Given the description of an element on the screen output the (x, y) to click on. 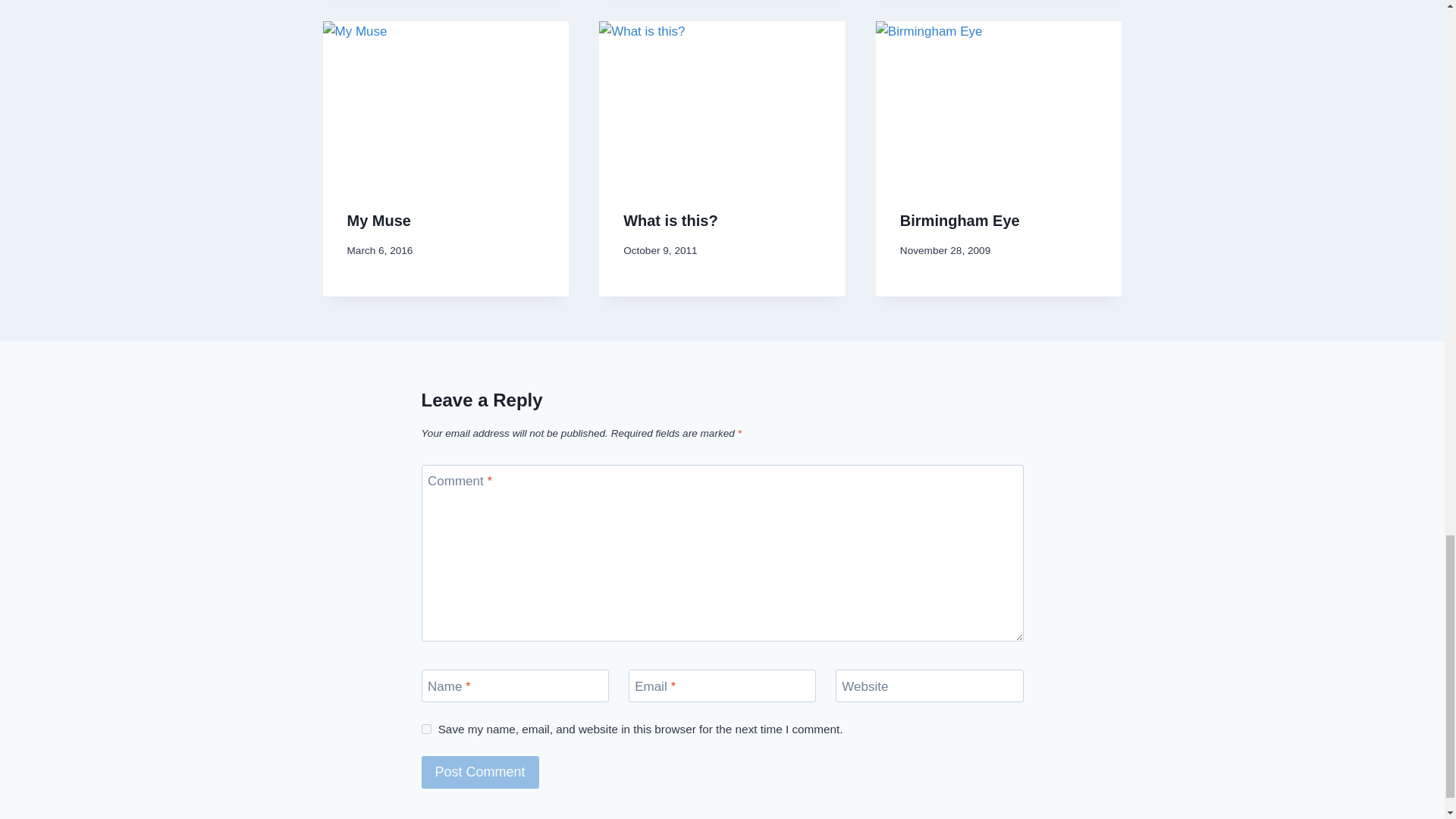
Birmingham Eye 11 (999, 103)
What is this? (670, 220)
My Muse (378, 220)
What is this? 10 (721, 103)
Post Comment (480, 771)
yes (426, 728)
My Muse 8 (446, 103)
